Given the description of an element on the screen output the (x, y) to click on. 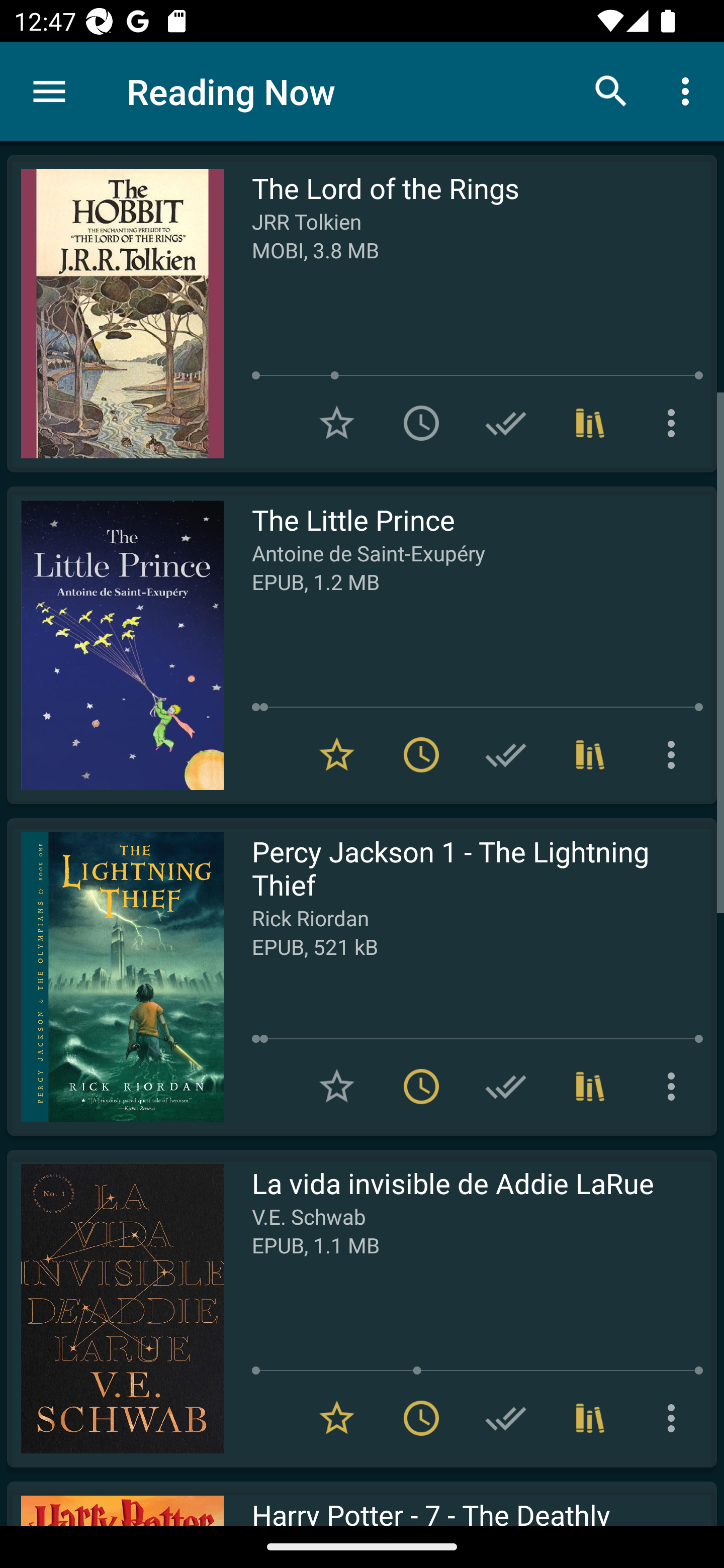
Menu (49, 91)
Search books & documents (611, 90)
More options (688, 90)
Read The Lord of the Rings (115, 313)
Add to Favorites (336, 423)
Add to To read (421, 423)
Add to Have read (505, 423)
Collections (1) (590, 423)
More options (674, 423)
Read The Little Prince (115, 645)
Remove from Favorites (336, 753)
Remove from To read (421, 753)
Add to Have read (505, 753)
Collections (1) (590, 753)
More options (674, 753)
Read Percy Jackson 1 - The Lightning Thief (115, 976)
Add to Favorites (336, 1086)
Remove from To read (421, 1086)
Add to Have read (505, 1086)
Collections (1) (590, 1086)
More options (674, 1086)
Read La vida invisible de Addie LaRue (115, 1308)
Remove from Favorites (336, 1417)
Remove from To read (421, 1417)
Add to Have read (505, 1417)
Collections (1) (590, 1417)
More options (674, 1417)
